Given the description of an element on the screen output the (x, y) to click on. 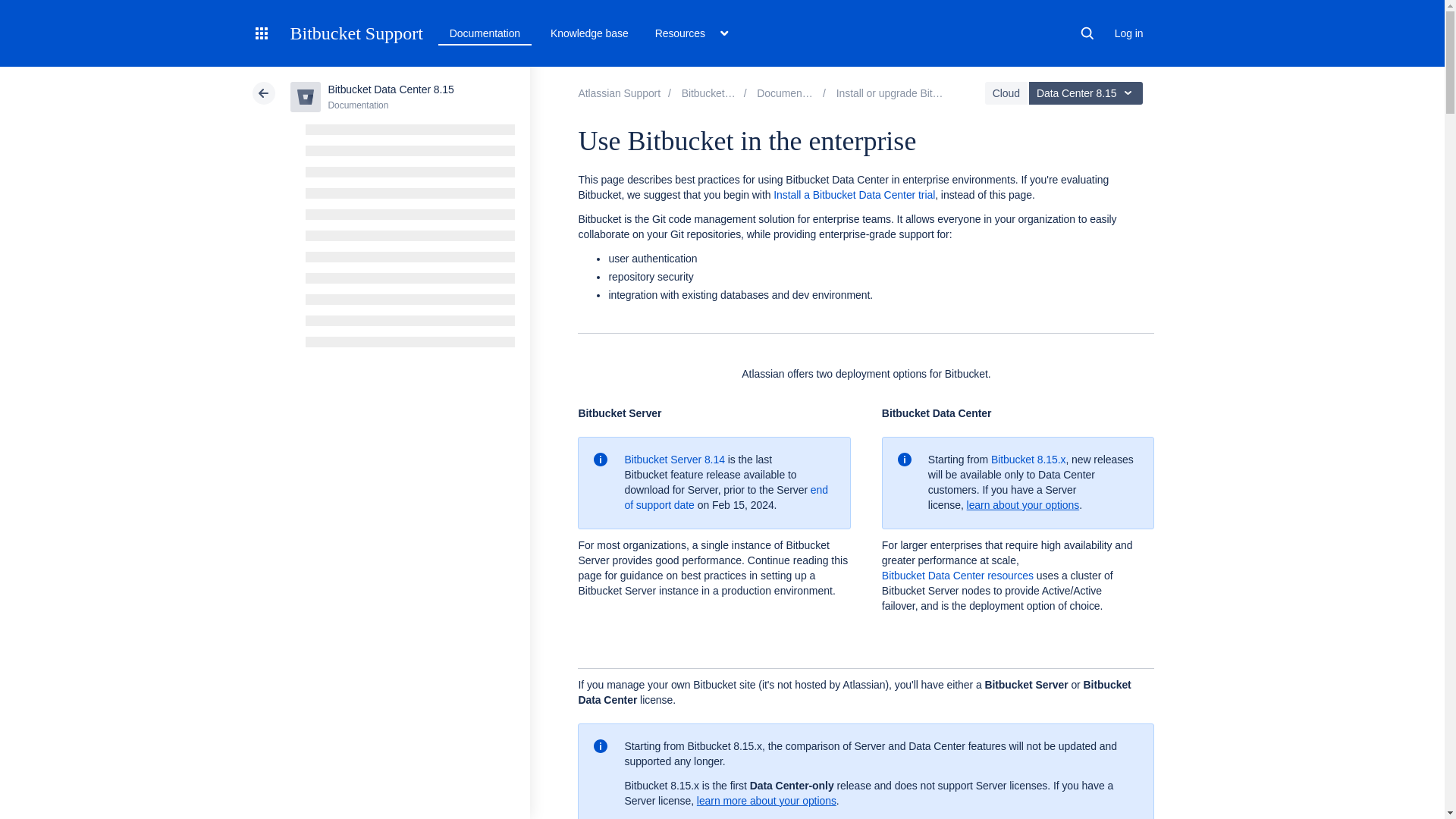
Bitbucket (714, 92)
Bitbucket Support (355, 33)
Log in (1128, 33)
Documentation (484, 33)
Install or upgrade Bitbucket (899, 92)
Atlassian Support (619, 92)
Search (1087, 33)
Knowledge base (589, 33)
Bitbucket Data Center 8.15 (792, 92)
